Given the description of an element on the screen output the (x, y) to click on. 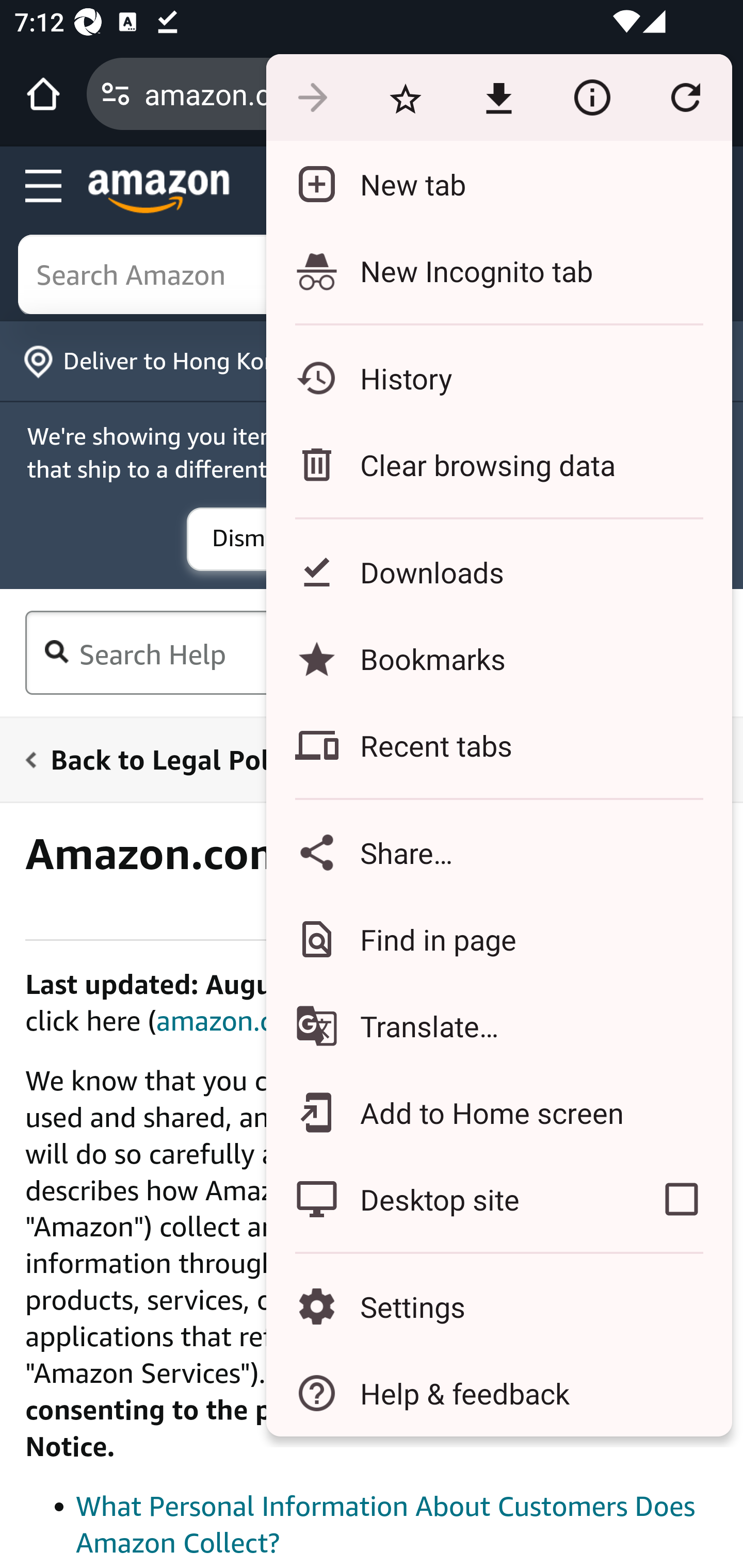
Forward (311, 97)
Bookmark (404, 97)
Download (498, 97)
Page info (591, 97)
Refresh (684, 97)
New tab (498, 184)
New Incognito tab (498, 270)
History (498, 377)
Clear browsing data (498, 464)
Downloads (498, 571)
Bookmarks (498, 658)
Recent tabs (498, 745)
Share… (498, 852)
Find in page (498, 939)
Translate… (498, 1026)
Add to Home screen (498, 1112)
Desktop site Turn on Request desktop site (447, 1198)
Settings (498, 1306)
Help & feedback (498, 1393)
